Given the description of an element on the screen output the (x, y) to click on. 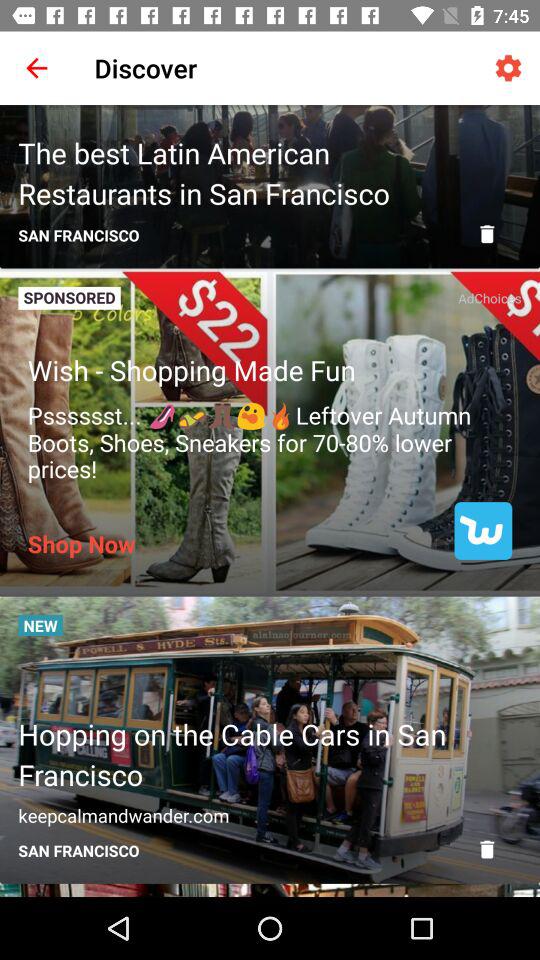
delete the item (487, 233)
